Given the description of an element on the screen output the (x, y) to click on. 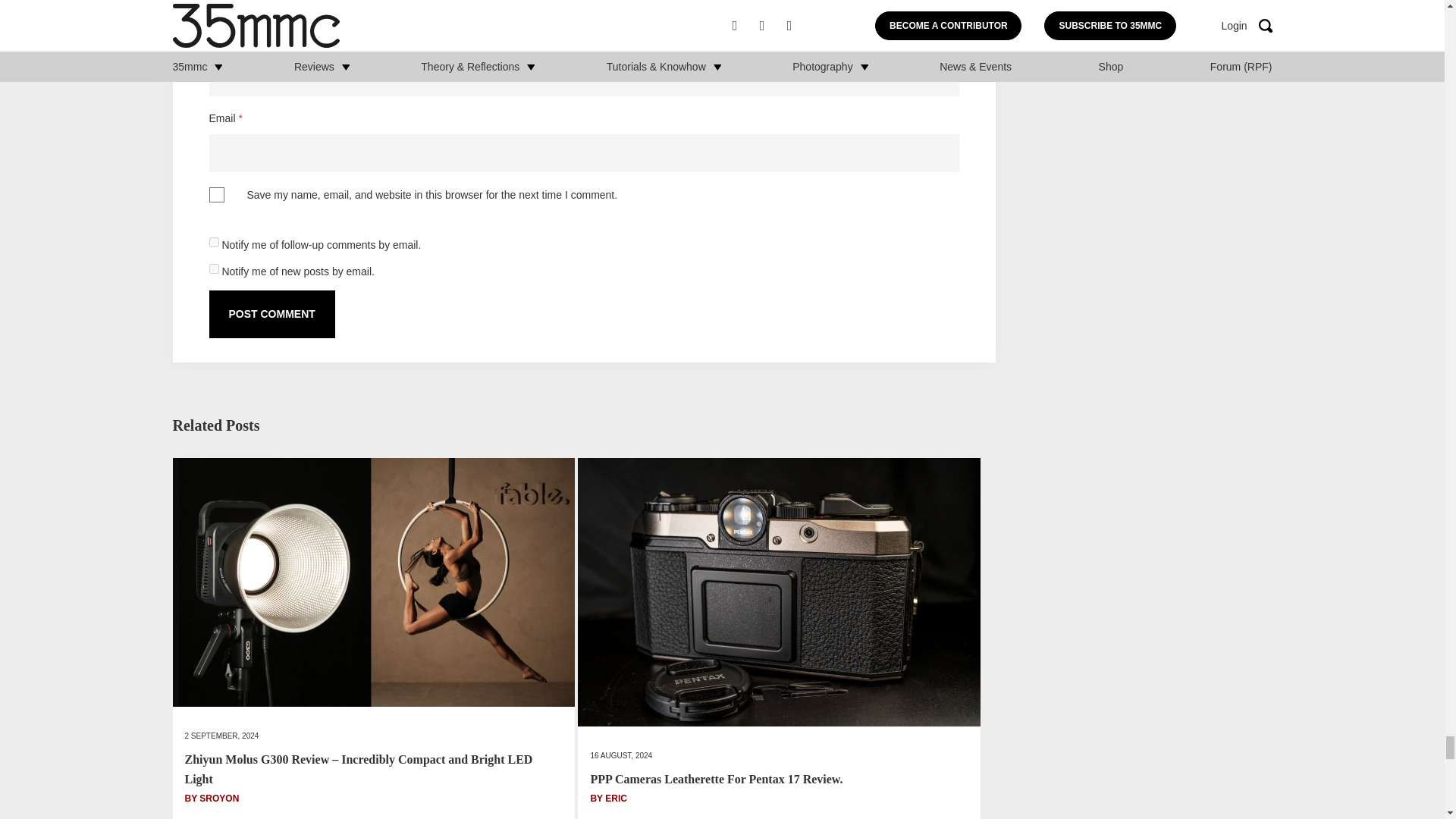
yes (216, 194)
Post Comment (271, 314)
subscribe (214, 268)
subscribe (214, 242)
